Given the description of an element on the screen output the (x, y) to click on. 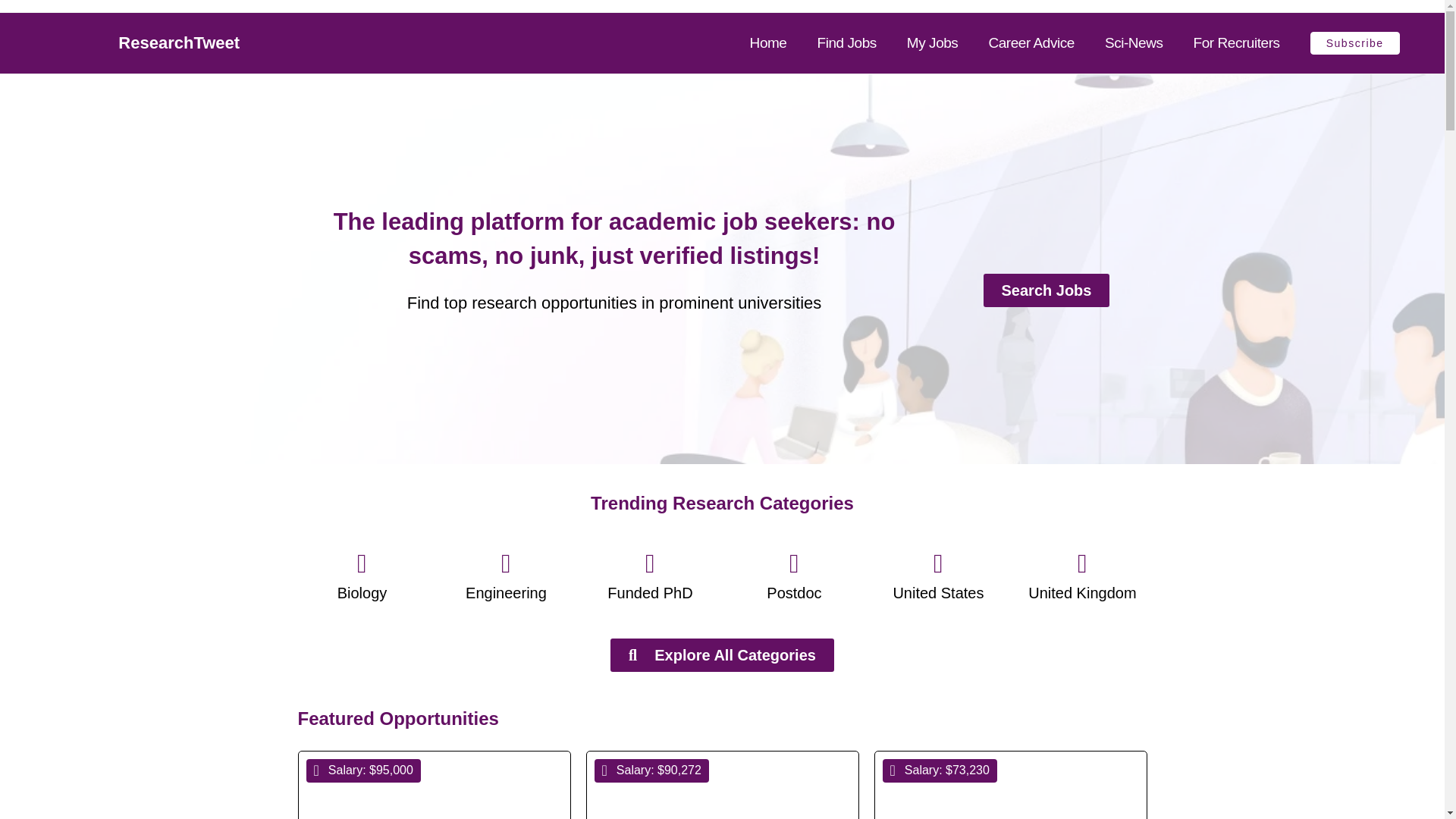
For Recruiters (1236, 43)
Career Advice (1031, 43)
Funded PhD (650, 592)
ResearchTweet (178, 42)
United Kingdom (1081, 592)
Engineering (506, 592)
Biology (362, 592)
Find Jobs (846, 43)
Home (768, 43)
Explore All Categories (722, 654)
